Given the description of an element on the screen output the (x, y) to click on. 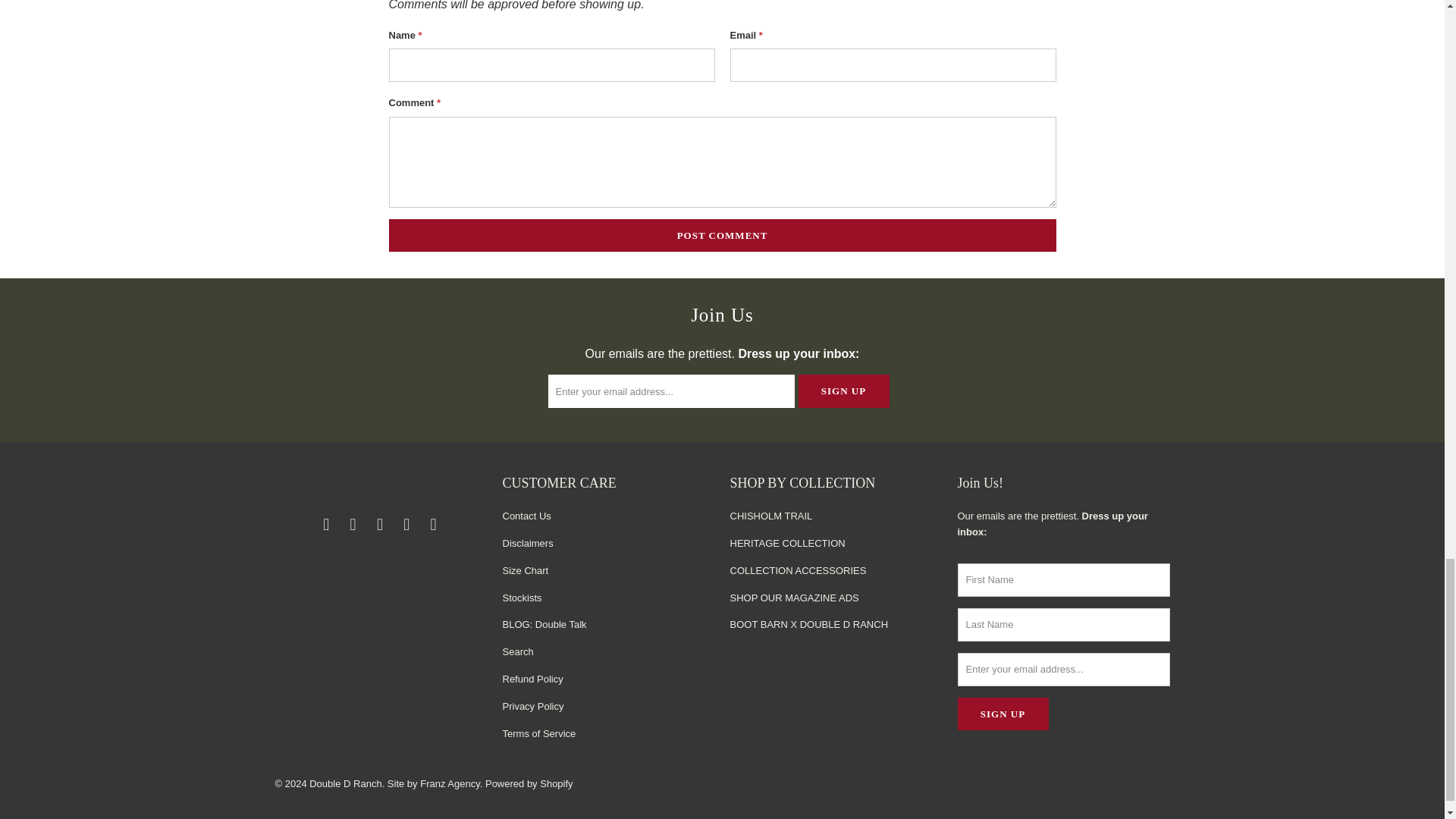
Sign Up (1002, 714)
Post comment (721, 235)
Sign Up (842, 390)
